Given the description of an element on the screen output the (x, y) to click on. 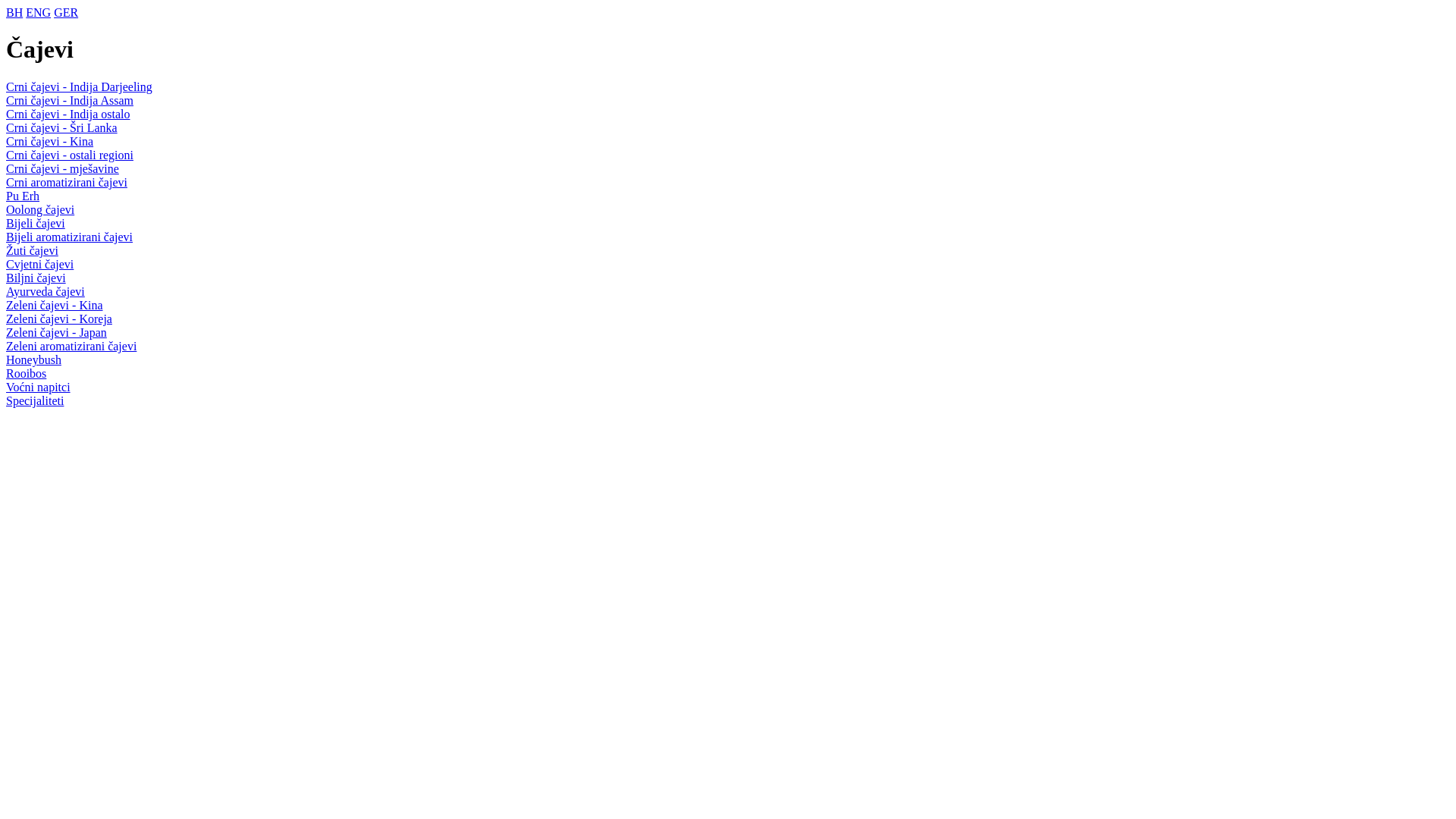
Rooibos Element type: text (26, 373)
Pu Erh Element type: text (22, 195)
ENG Element type: text (37, 12)
GER Element type: text (65, 12)
Specijaliteti Element type: text (34, 400)
Honeybush Element type: text (33, 359)
BH Element type: text (14, 12)
